Given the description of an element on the screen output the (x, y) to click on. 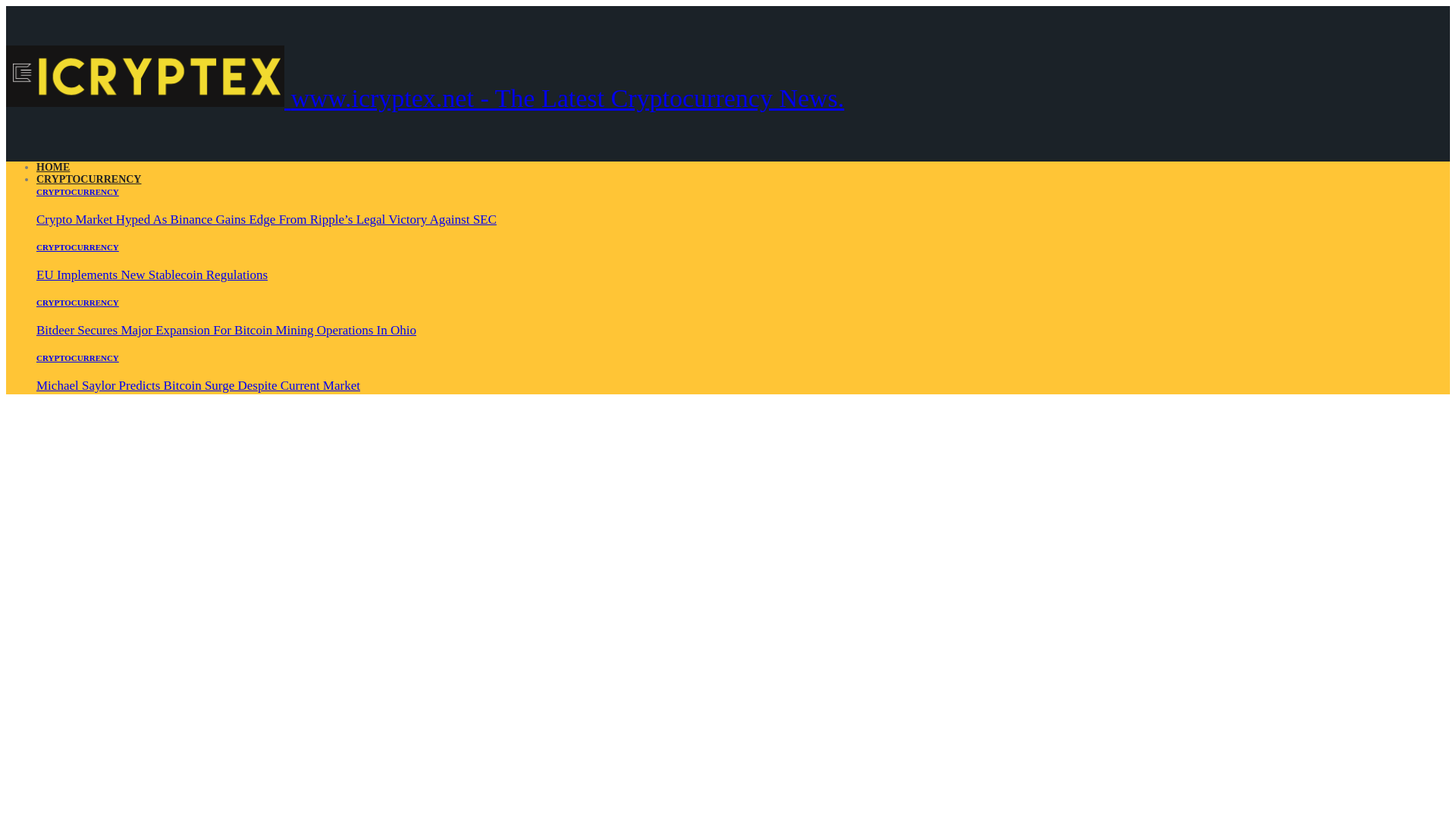
CRYPTOCURRENCY (77, 246)
CRYPTOCURRENCY (77, 191)
www.icryptex.net - The Latest Cryptocurrency News. (424, 98)
CRYPTOCURRENCY (88, 179)
CRYPTOCURRENCY (77, 302)
EU Implements New Stablecoin Regulations (151, 274)
CRYPTOCURRENCY (77, 357)
HOME (52, 166)
